Given the description of an element on the screen output the (x, y) to click on. 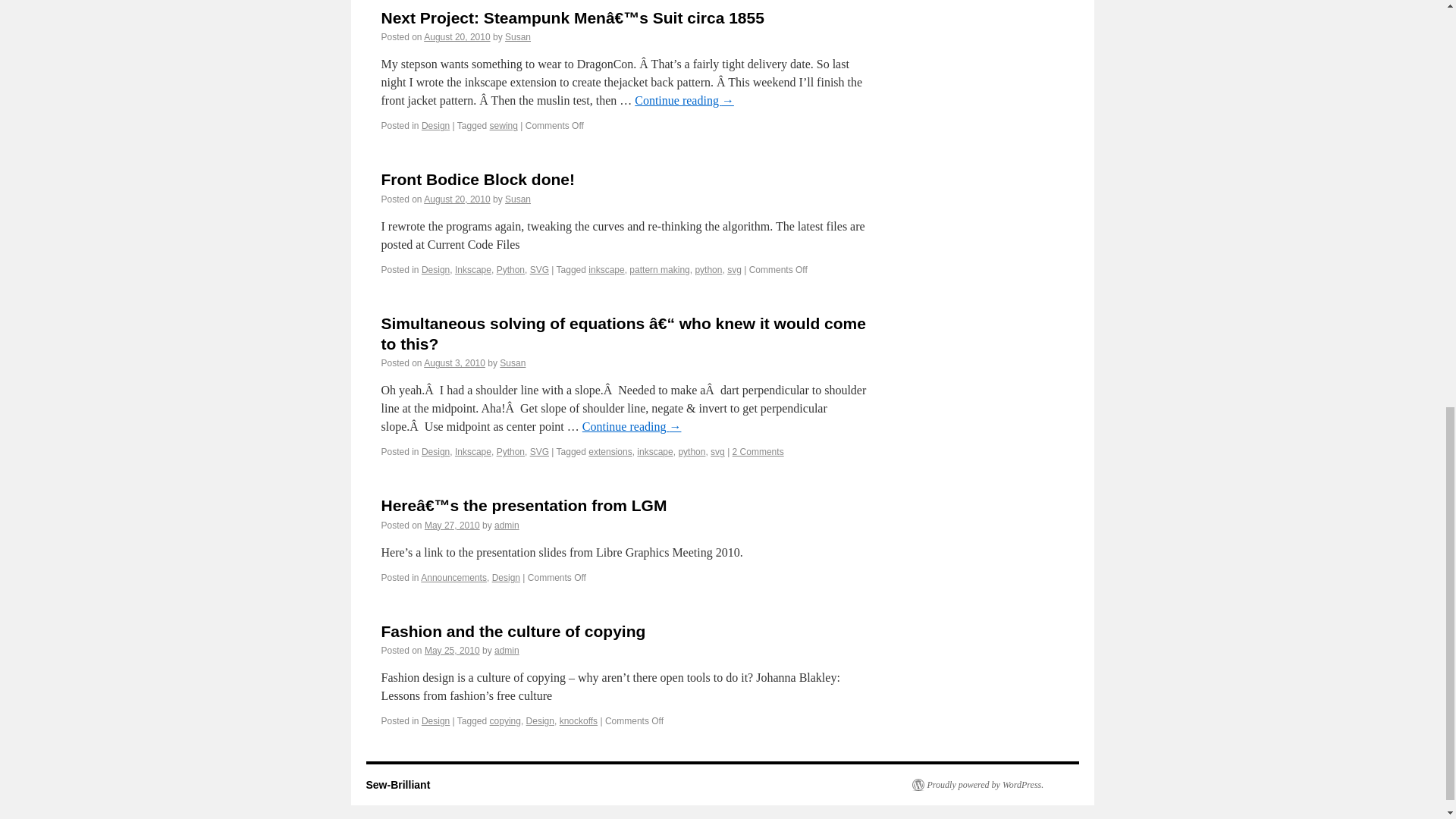
Susan (518, 36)
7:14 pm (456, 36)
Permalink to Front Bodice Block done! (477, 179)
August 20, 2010 (456, 36)
6:10 pm (456, 199)
View all posts by Susan (518, 36)
